Given the description of an element on the screen output the (x, y) to click on. 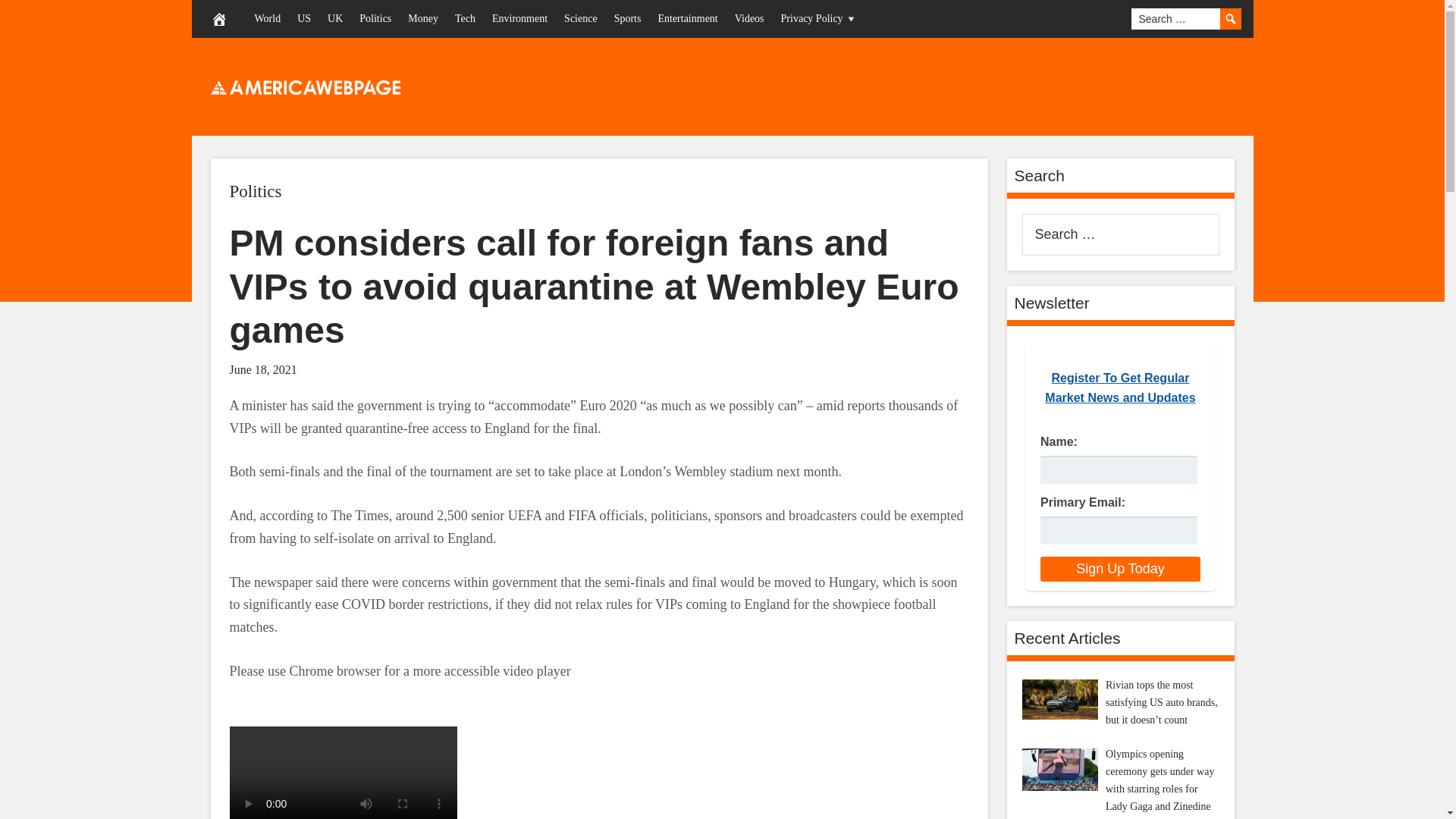
Politics (254, 190)
Science (580, 18)
World (267, 18)
Environment (519, 18)
Sports (627, 18)
Money (422, 18)
Privacy Policy (819, 18)
Politics (374, 18)
Entertainment (687, 18)
Sign Up Today (1120, 568)
Tech (464, 18)
Politics (254, 190)
